Given the description of an element on the screen output the (x, y) to click on. 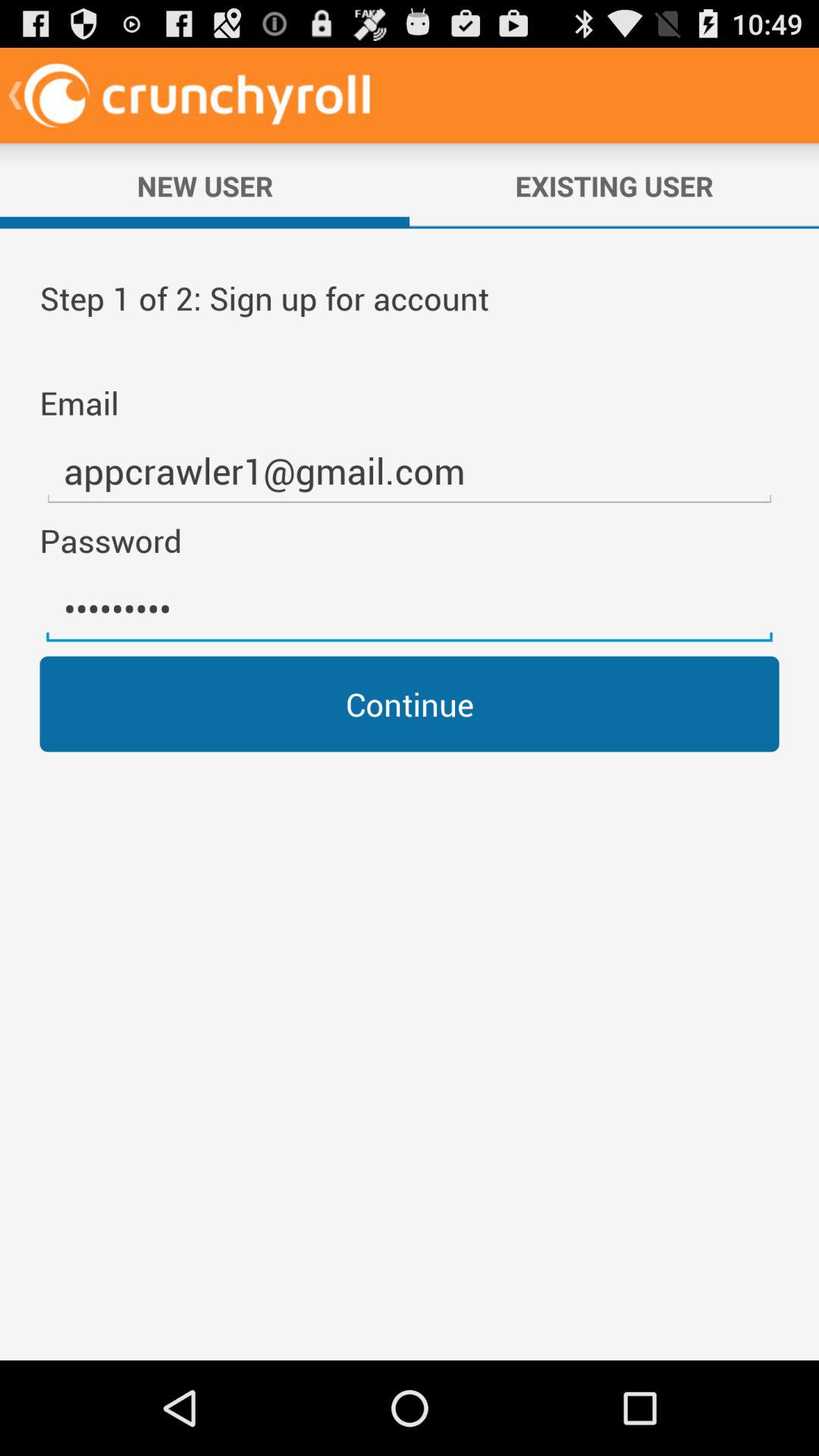
swipe until the crowd3116 item (409, 608)
